Given the description of an element on the screen output the (x, y) to click on. 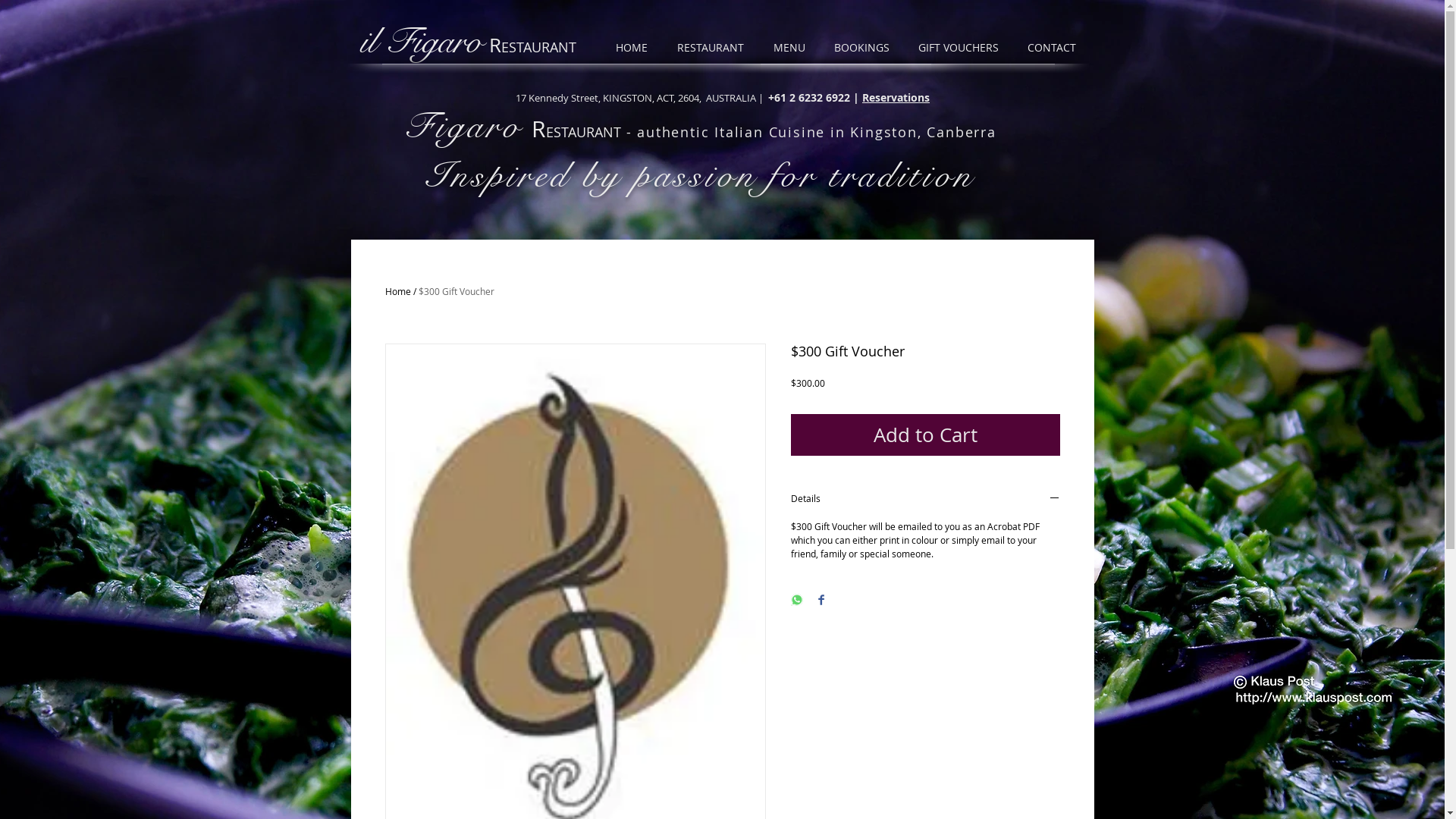
HOME Element type: text (634, 47)
RESTAURANT Element type: text (713, 47)
Details Element type: text (924, 499)
Add to Cart Element type: text (924, 434)
GIFT VOUCHERS Element type: text (961, 47)
CONTACT Element type: text (1054, 47)
il Figaro RESTAURANT Element type: text (467, 47)
BOOKINGS Element type: text (864, 47)
Home Element type: text (398, 291)
MENU Element type: text (791, 47)
Reservations Element type: text (895, 97)
$300 Gift Voucher Element type: text (456, 291)
